Given the description of an element on the screen output the (x, y) to click on. 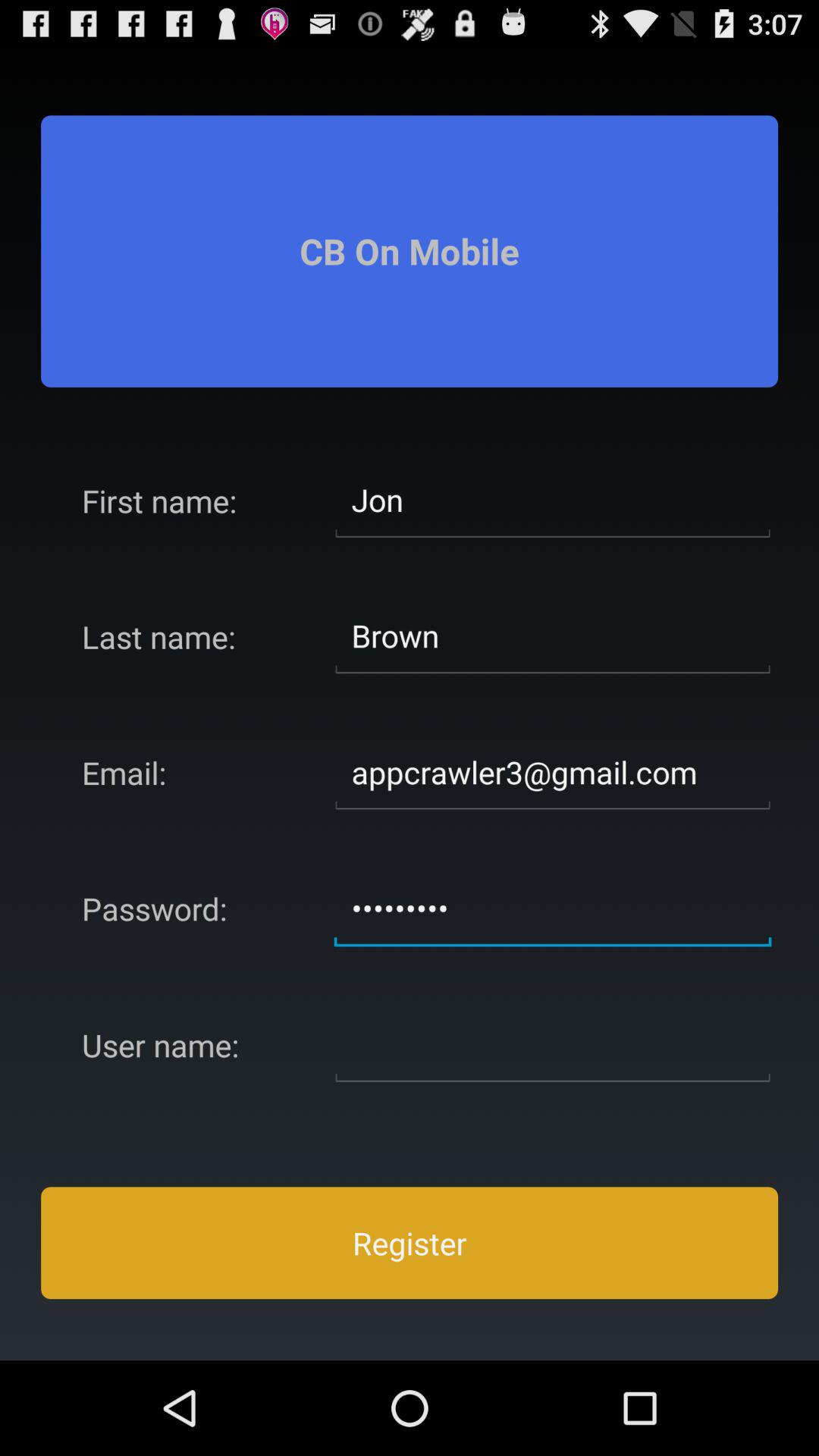
enter user name (552, 1044)
